Given the description of an element on the screen output the (x, y) to click on. 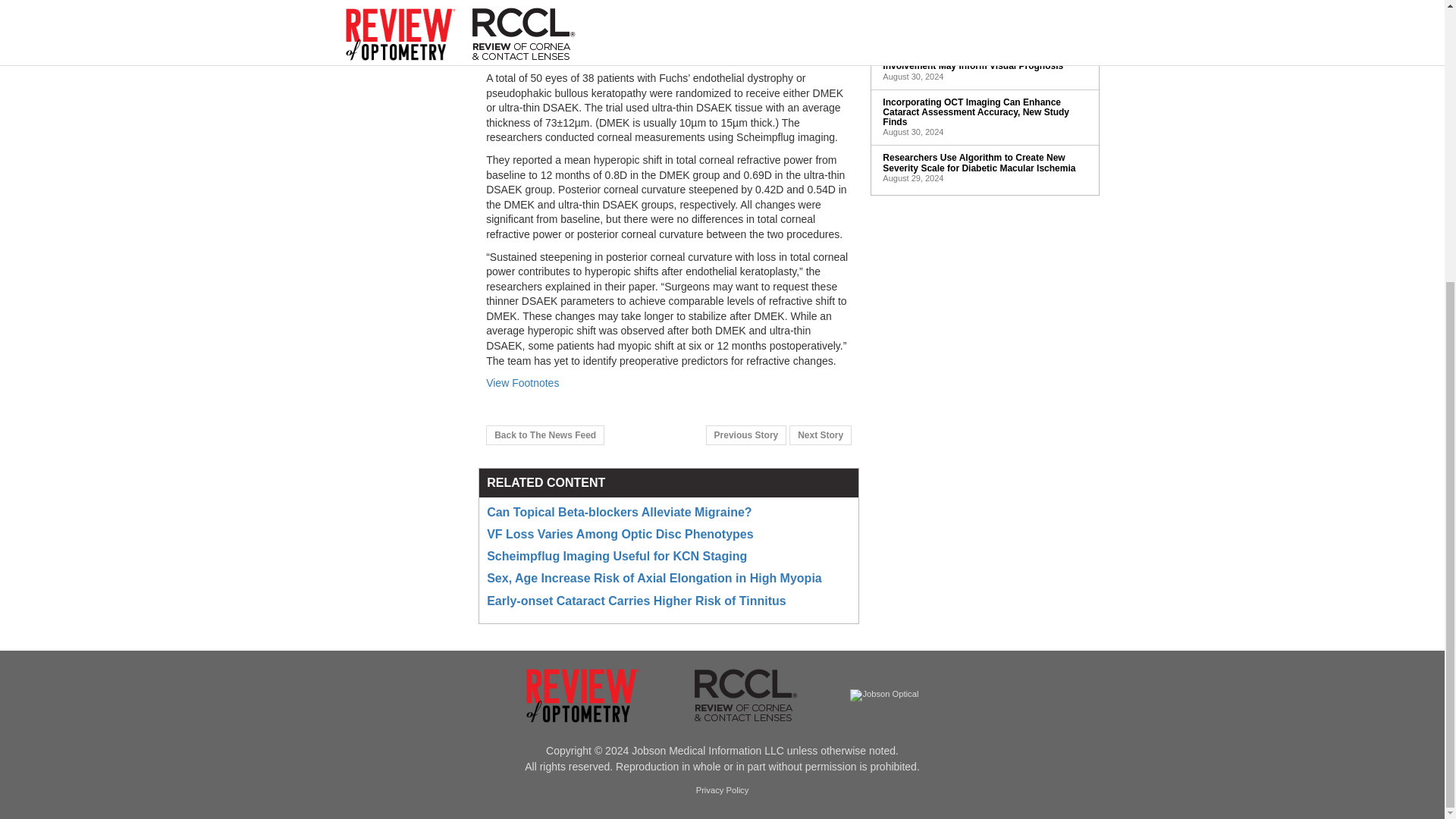
Sex, Age Increase Risk of Axial Elongation in High Myopia (654, 577)
Previous Story (746, 435)
Privacy Policy (722, 790)
Early-onset Cataract Carries Higher Risk of Tinnitus (636, 600)
View Footnotes (522, 382)
Back to The News Feed (545, 435)
